Given the description of an element on the screen output the (x, y) to click on. 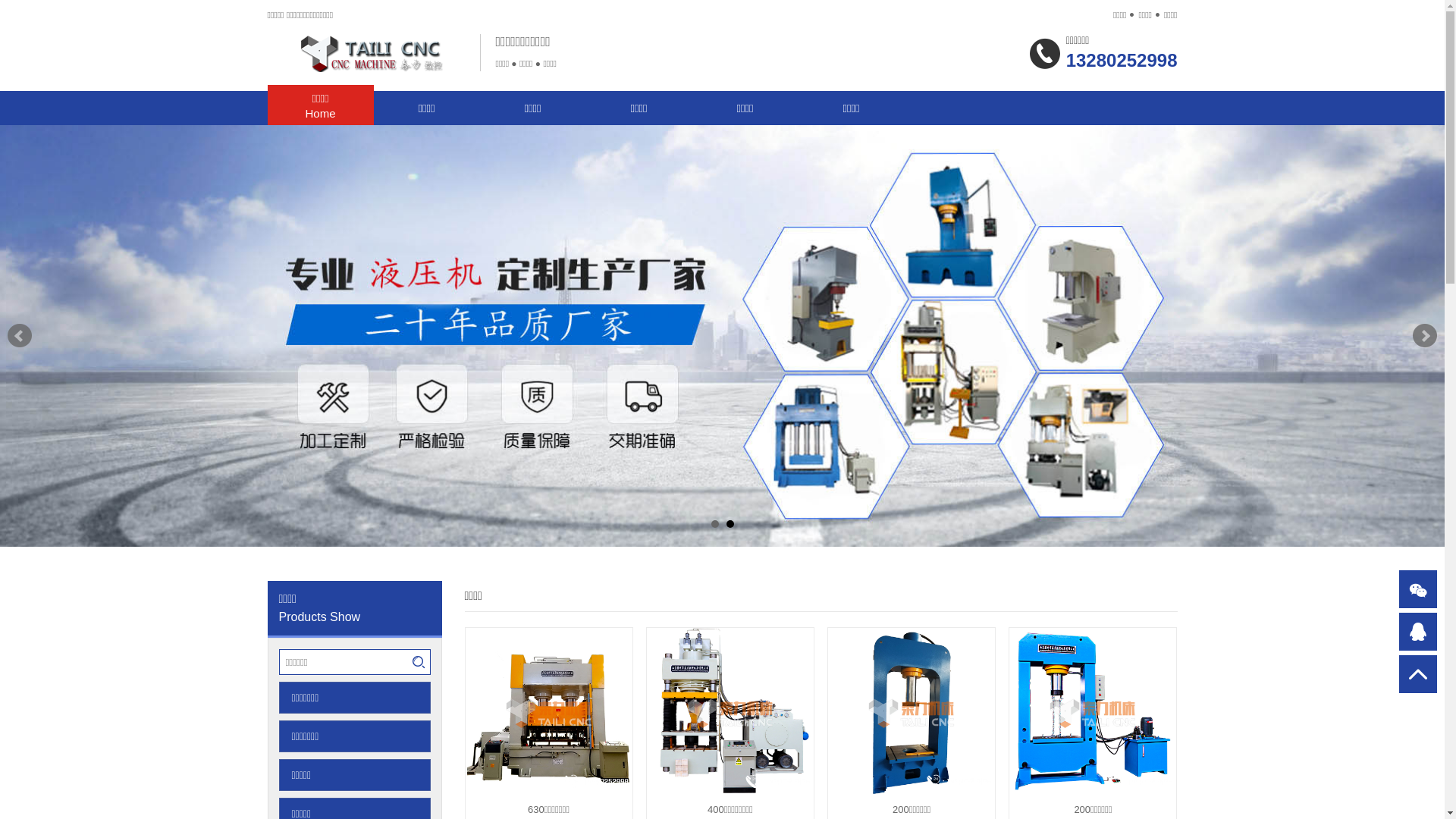
1 Element type: text (714, 523)
Prev Element type: text (19, 335)
2 Element type: text (730, 523)
Next Element type: text (1424, 335)
